Given the description of an element on the screen output the (x, y) to click on. 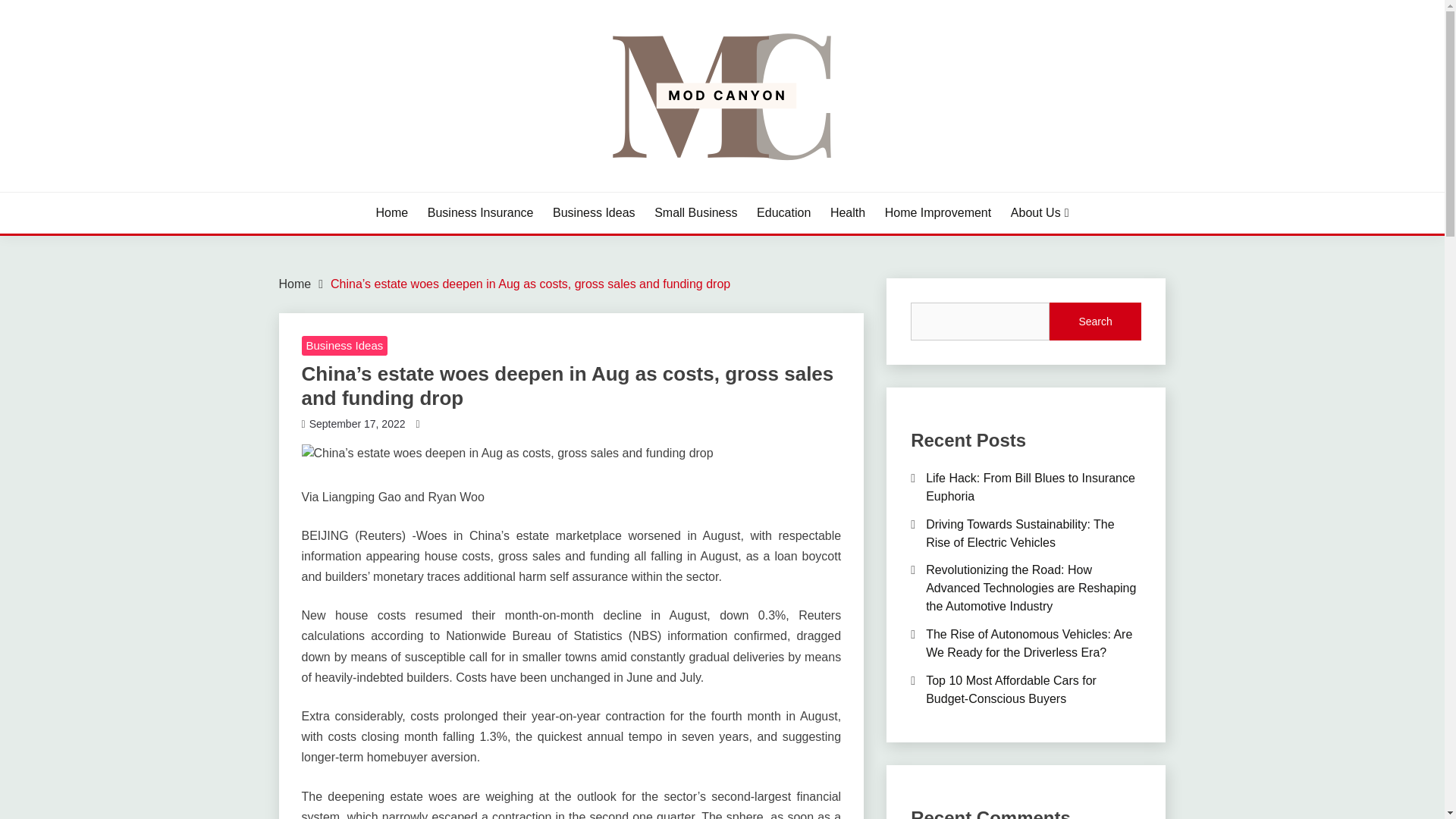
September 17, 2022 (357, 422)
Search (1095, 321)
Home (295, 283)
About Us (1039, 212)
Business Insurance (481, 212)
Home (392, 212)
Small Business (694, 212)
Home Improvement (938, 212)
Life Hack: From Bill Blues to Insurance Euphoria (1030, 486)
MODCANYON (371, 189)
Health (846, 212)
Business Ideas (593, 212)
